Given the description of an element on the screen output the (x, y) to click on. 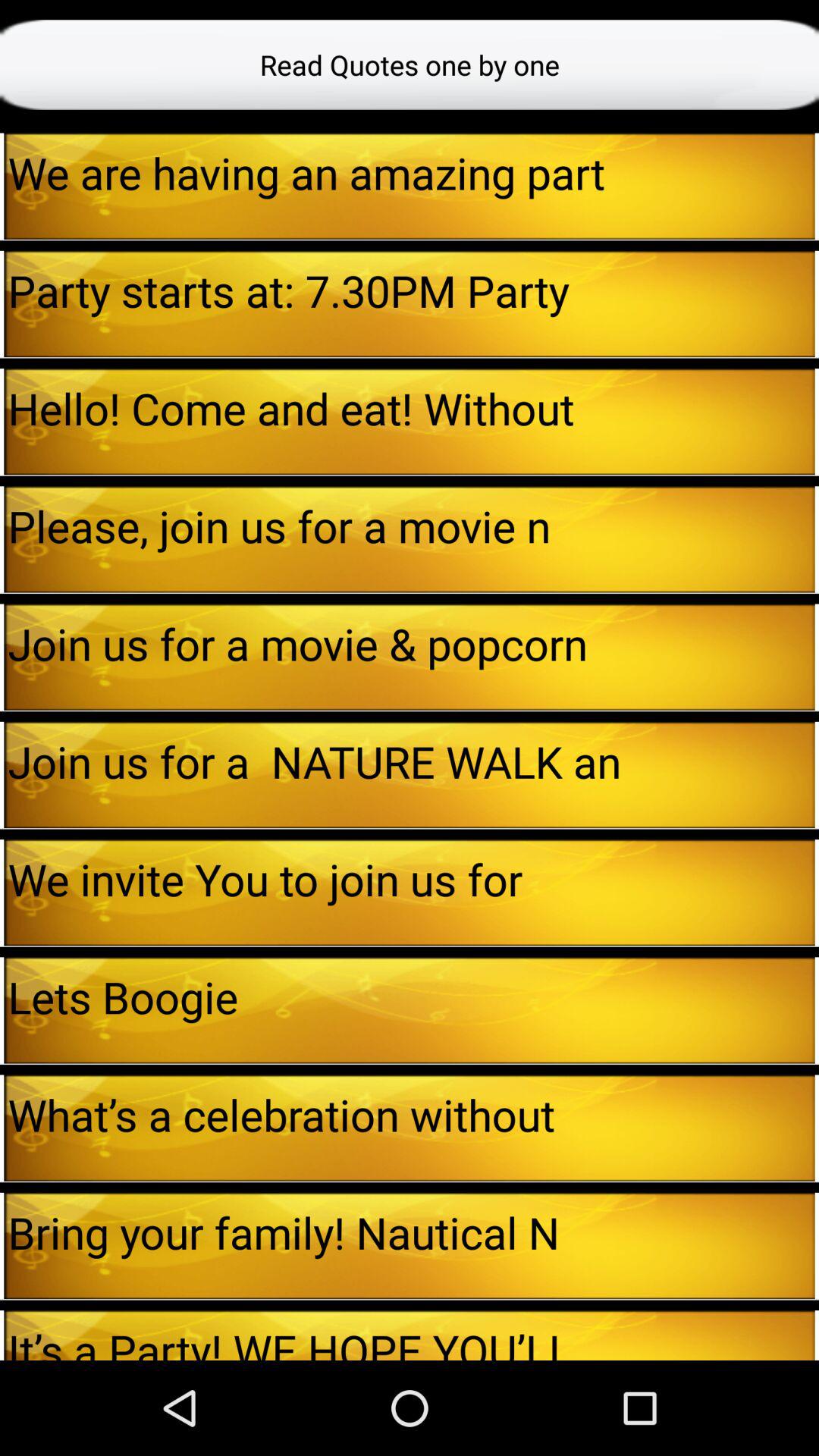
click item to the left of the it s a app (1, 1335)
